Given the description of an element on the screen output the (x, y) to click on. 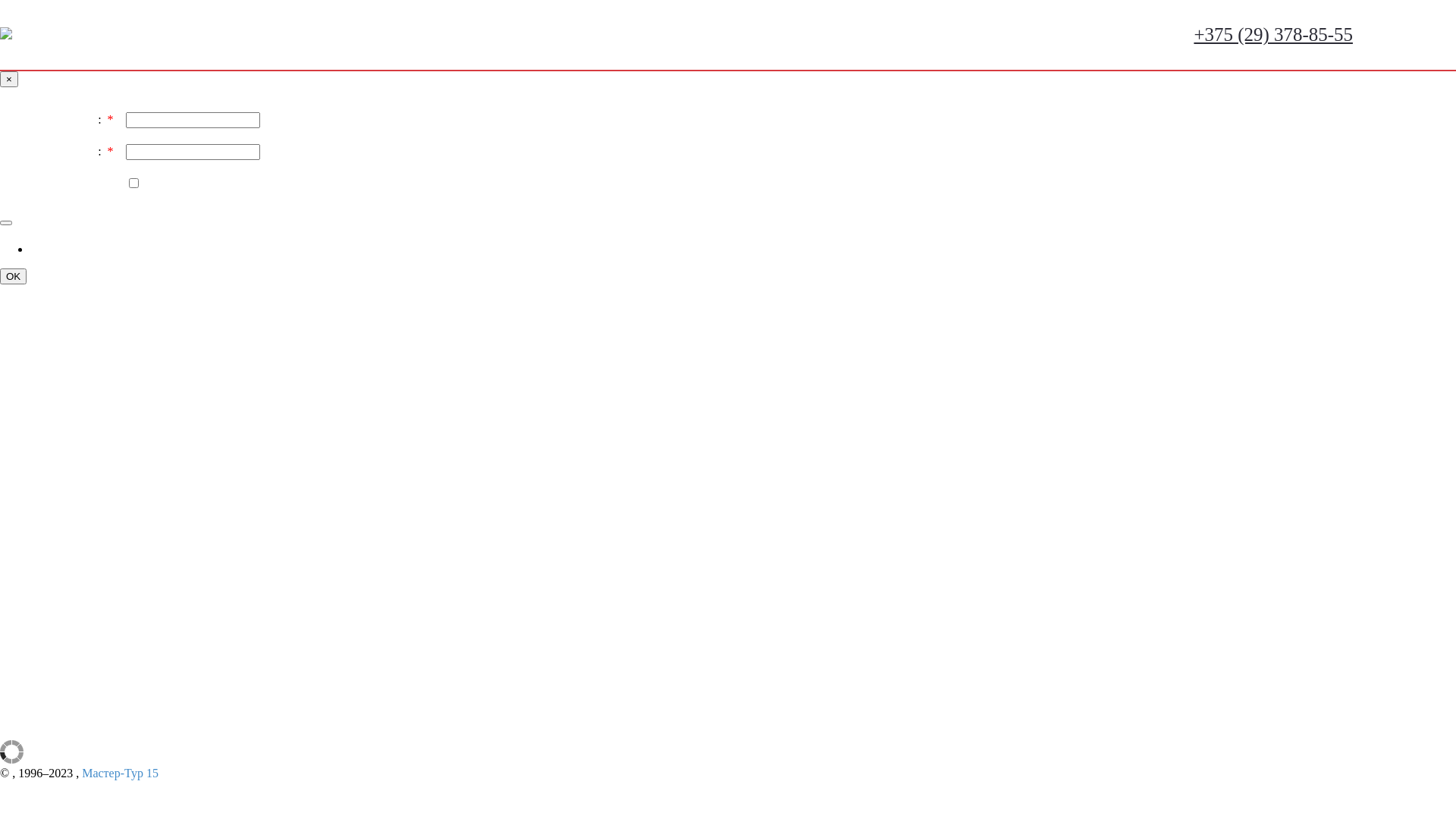
+375 (29) 378-85-55 Element type: text (1272, 34)
OK Element type: text (13, 276)
